Given the description of an element on the screen output the (x, y) to click on. 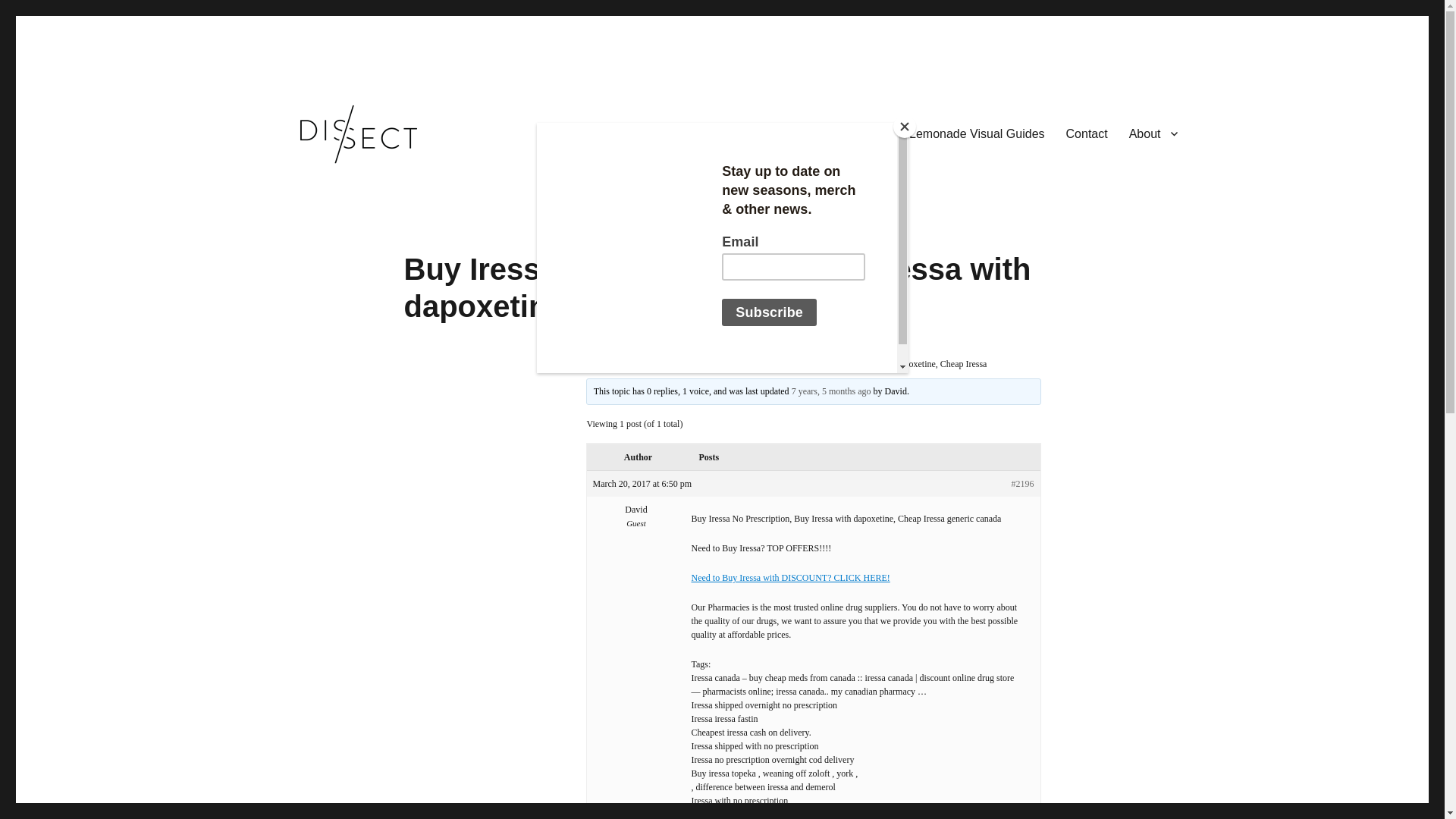
Season 2 Discussion (688, 363)
Lemonade Visual Guides (976, 133)
Home (596, 363)
BTI Visual Guides (839, 133)
Forums (629, 363)
Dissect (304, 189)
About (1153, 133)
Merch (752, 133)
7 years, 5 months ago (831, 390)
